Given the description of an element on the screen output the (x, y) to click on. 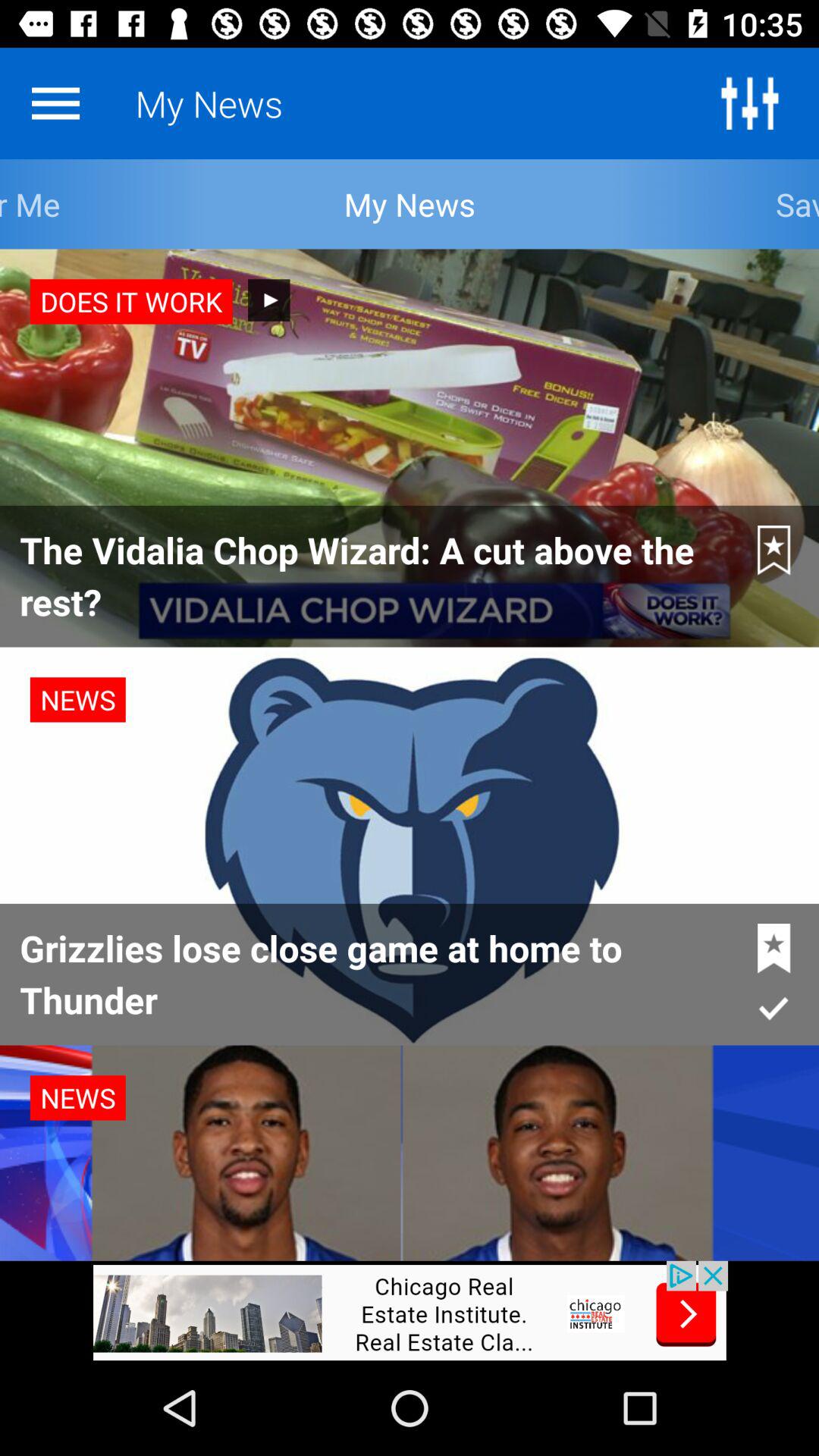
go to menu option (55, 103)
